Given the description of an element on the screen output the (x, y) to click on. 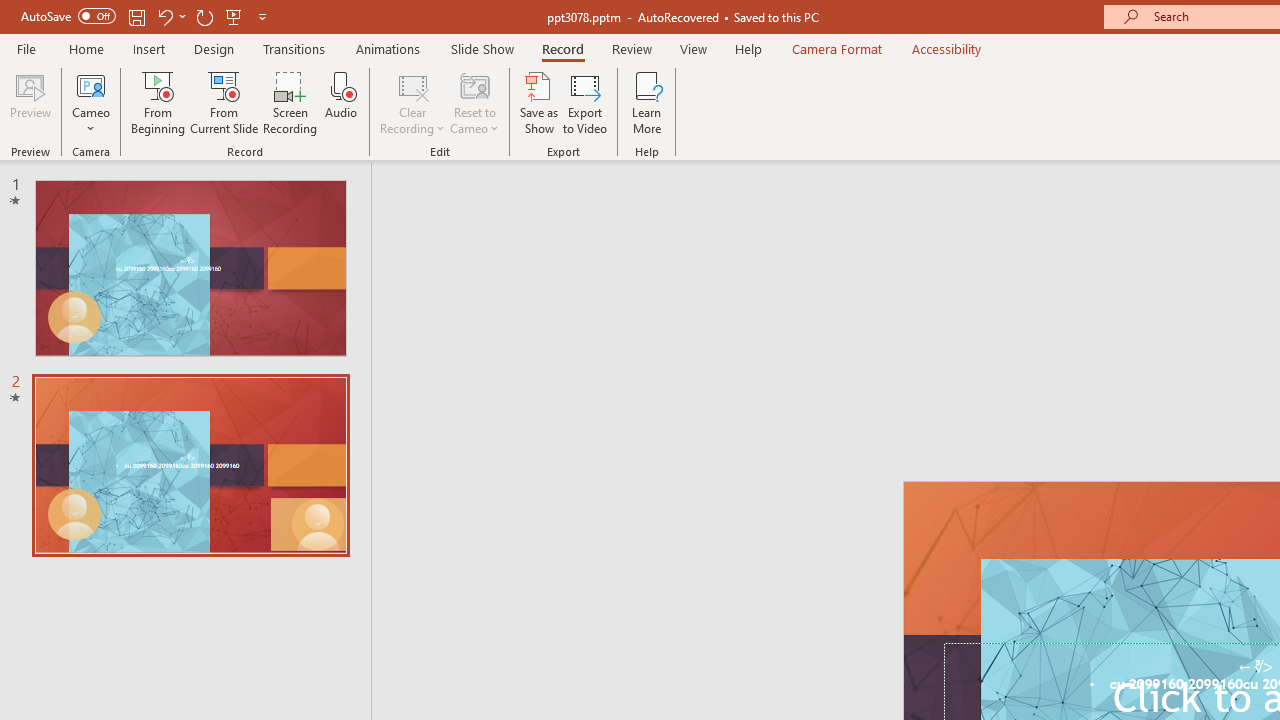
Screen Recording (290, 102)
Insert (149, 48)
From Beginning... (158, 102)
Slide (190, 465)
File Tab (26, 48)
View (693, 48)
Cameo (91, 102)
Learn More (646, 102)
